Given the description of an element on the screen output the (x, y) to click on. 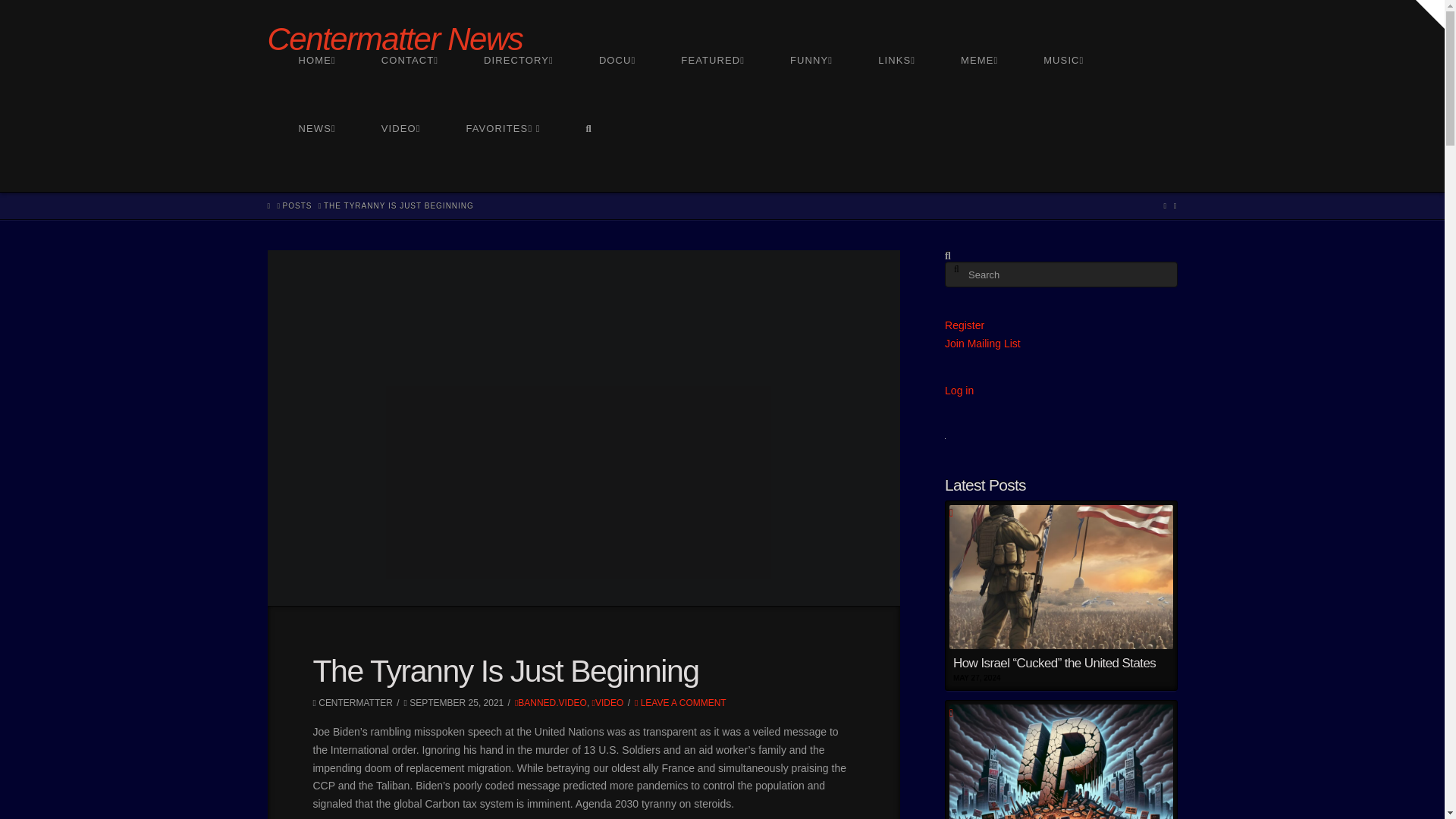
VIDEO (400, 157)
DIRECTORY (517, 89)
Centermatter News (394, 39)
LINKS (896, 89)
DOCU (616, 89)
MUSIC (1062, 89)
NEWS (316, 157)
MEME (977, 89)
FAVORITES (501, 157)
CONTACT (409, 89)
HOME (316, 89)
FUNNY (810, 89)
Permalink to: "PayPal Is Dying. Good Riddance." (1060, 759)
You Are Here (398, 204)
FEATURED (711, 89)
